Given the description of an element on the screen output the (x, y) to click on. 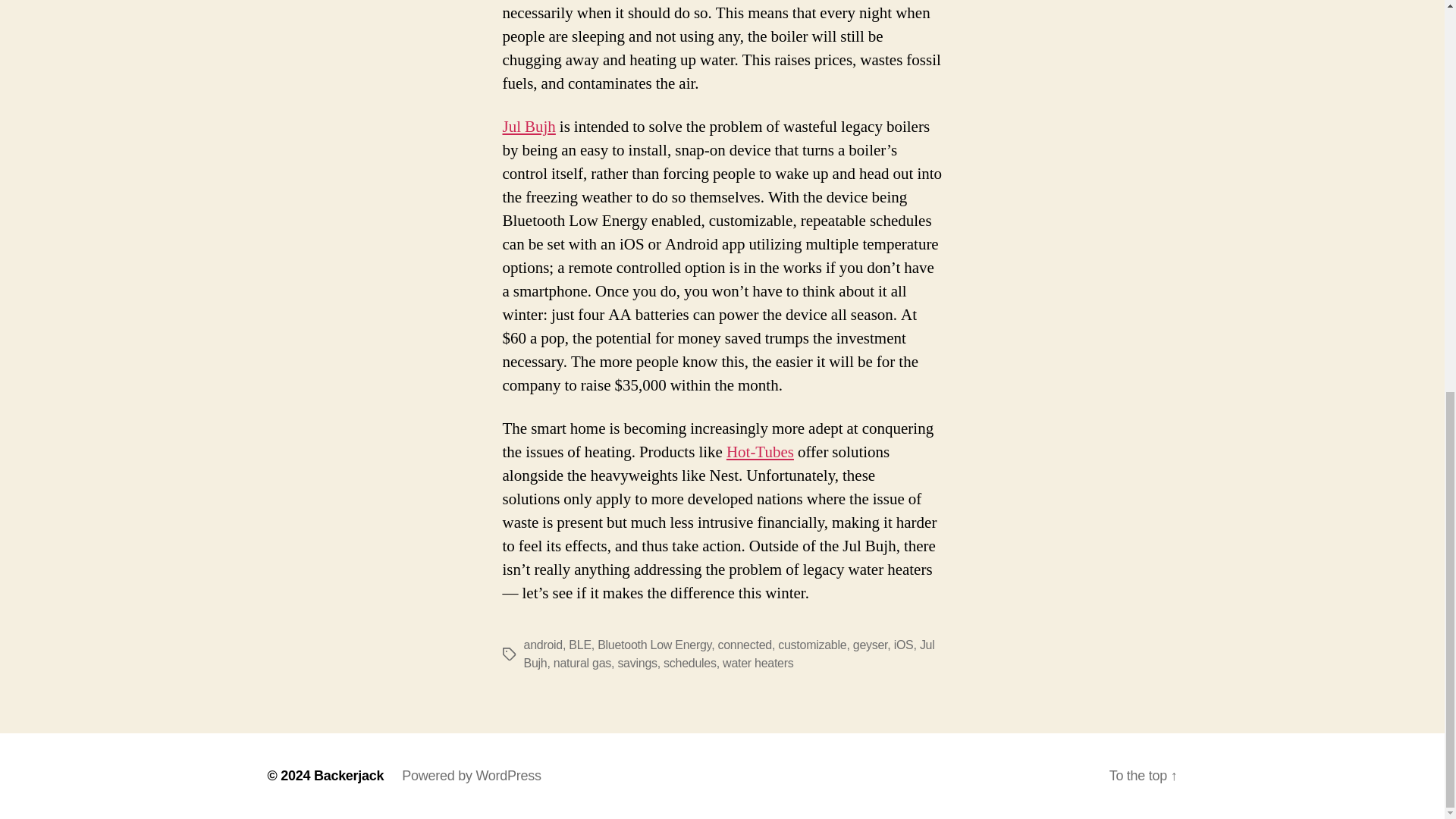
Hot-Tubes (759, 452)
Backerjack (349, 775)
android (542, 644)
connected (744, 644)
iOS (903, 644)
savings (636, 662)
Jul Bujh (728, 653)
natural gas (582, 662)
geyser (870, 644)
water heaters (757, 662)
